Given the description of an element on the screen output the (x, y) to click on. 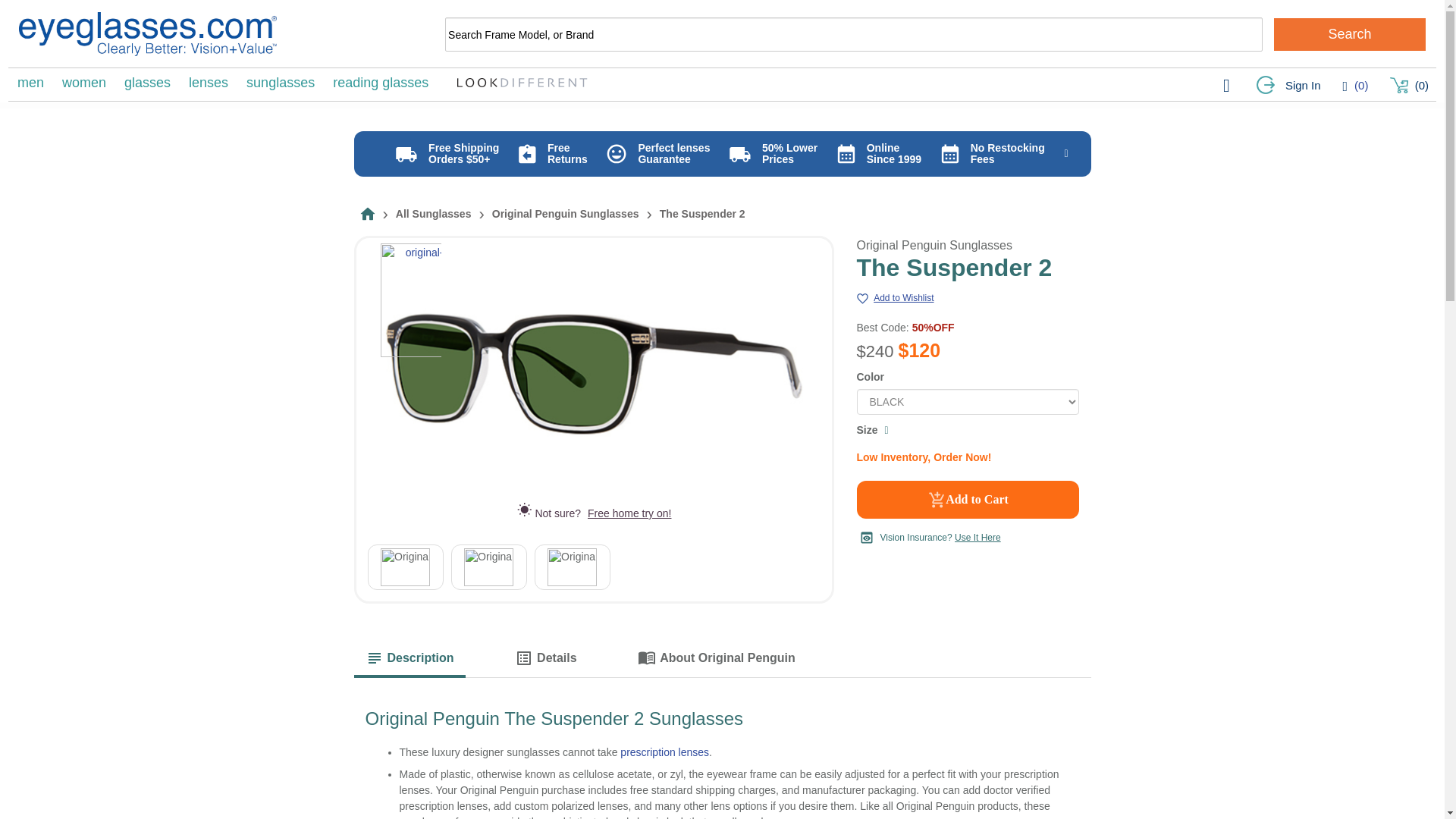
Eyeglasses.com (147, 34)
Shopping Cart (1409, 85)
  Sign In (1288, 86)
Sign In (1288, 86)
Search (1349, 34)
Wishlist (1355, 85)
Search (1349, 34)
men (30, 82)
